Given the description of an element on the screen output the (x, y) to click on. 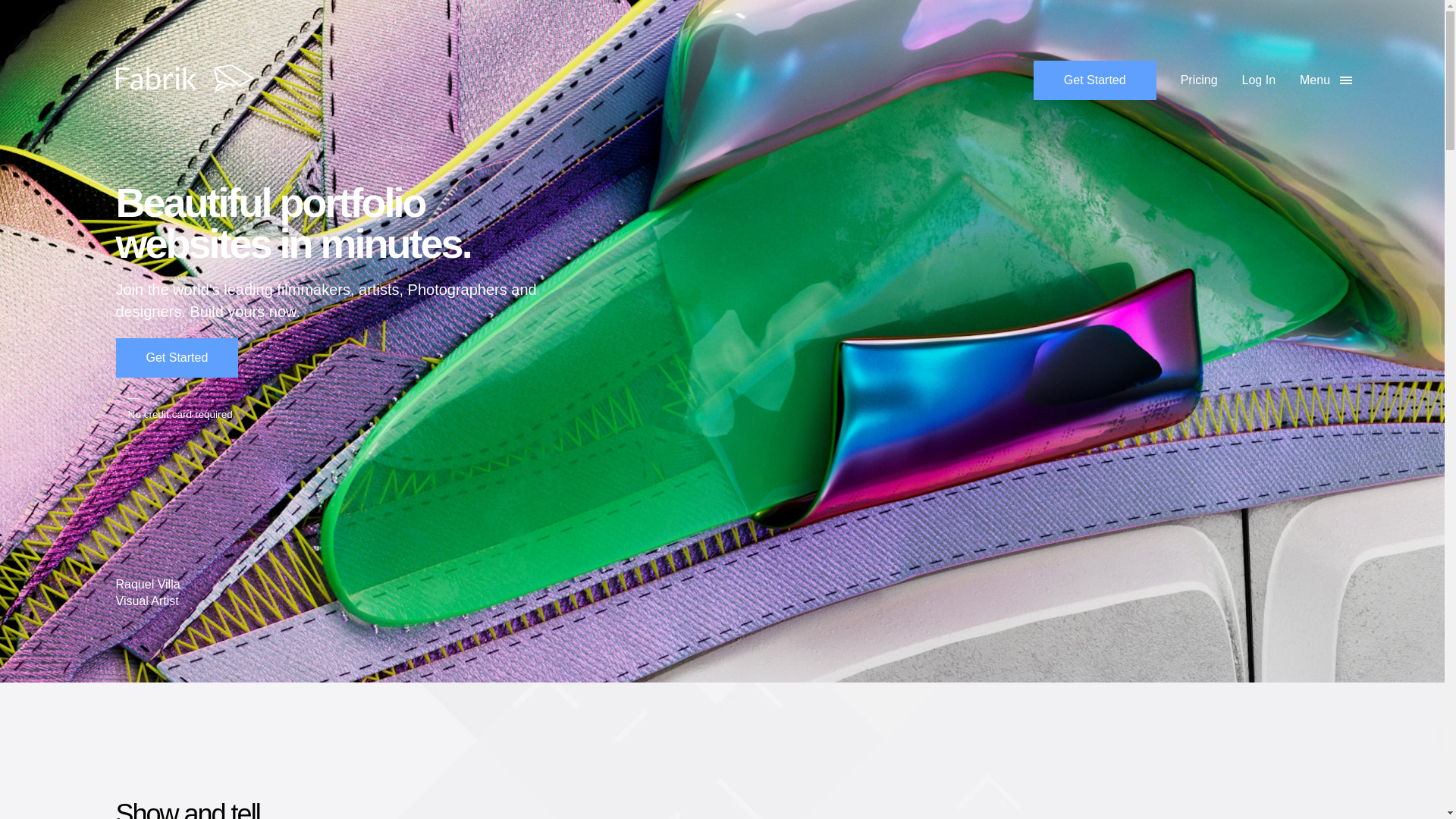
Get Started (176, 357)
Log In (1246, 79)
Menu (1315, 79)
Get Started (1094, 79)
Pricing (1186, 79)
